Given the description of an element on the screen output the (x, y) to click on. 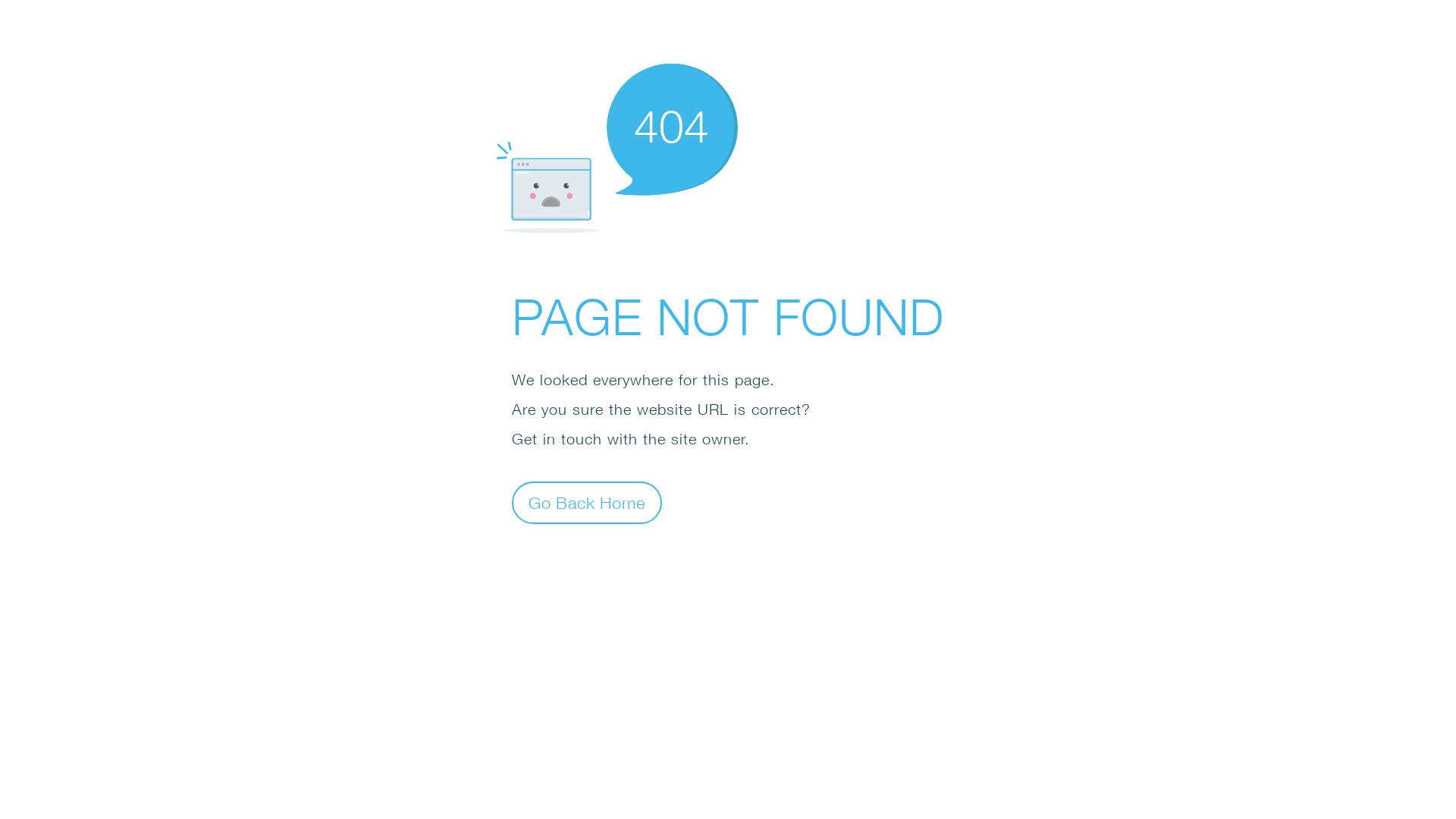
Go Back Home Element type: text (586, 502)
